Given the description of an element on the screen output the (x, y) to click on. 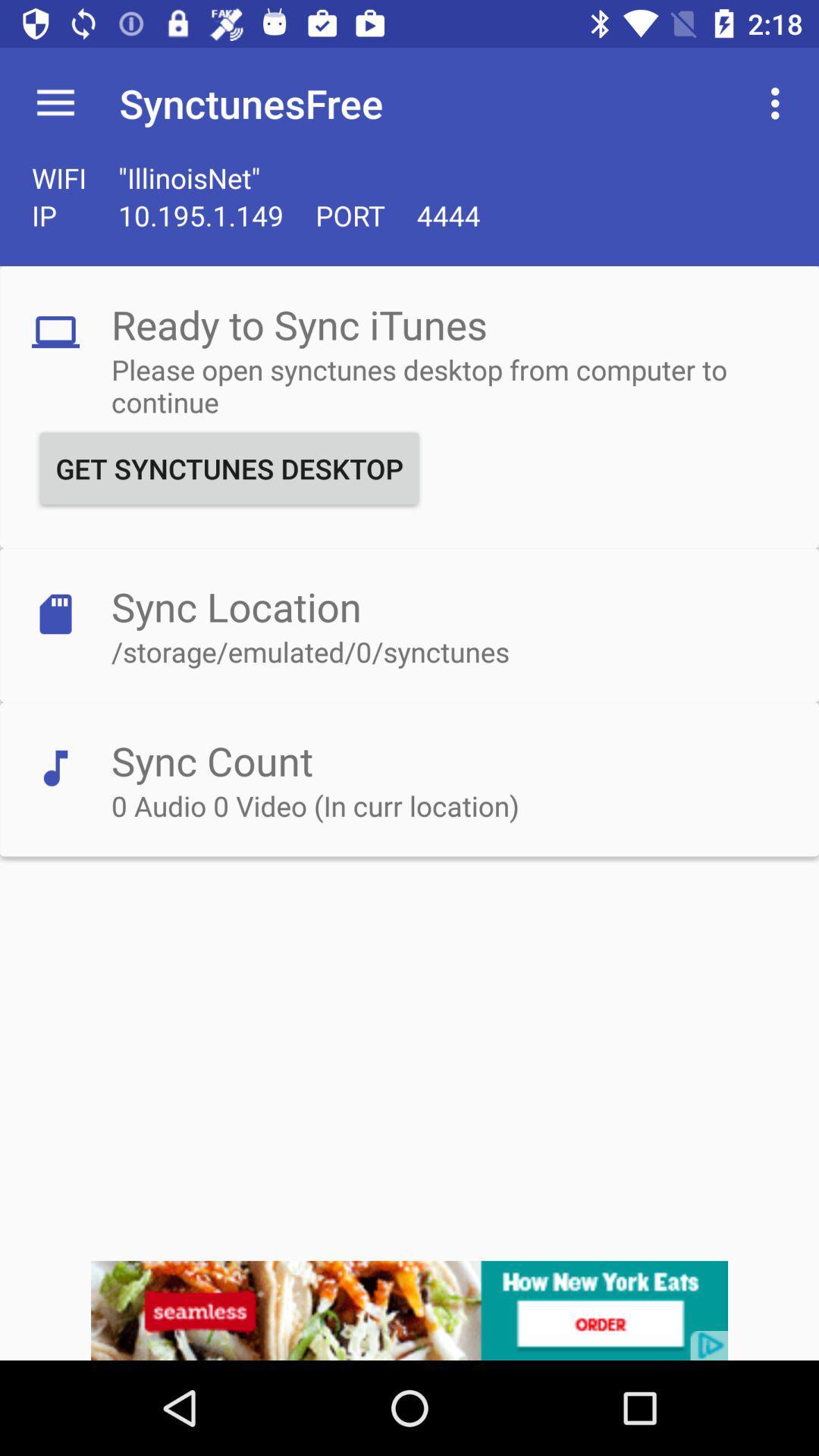
go to link in advertisement (409, 1310)
